Given the description of an element on the screen output the (x, y) to click on. 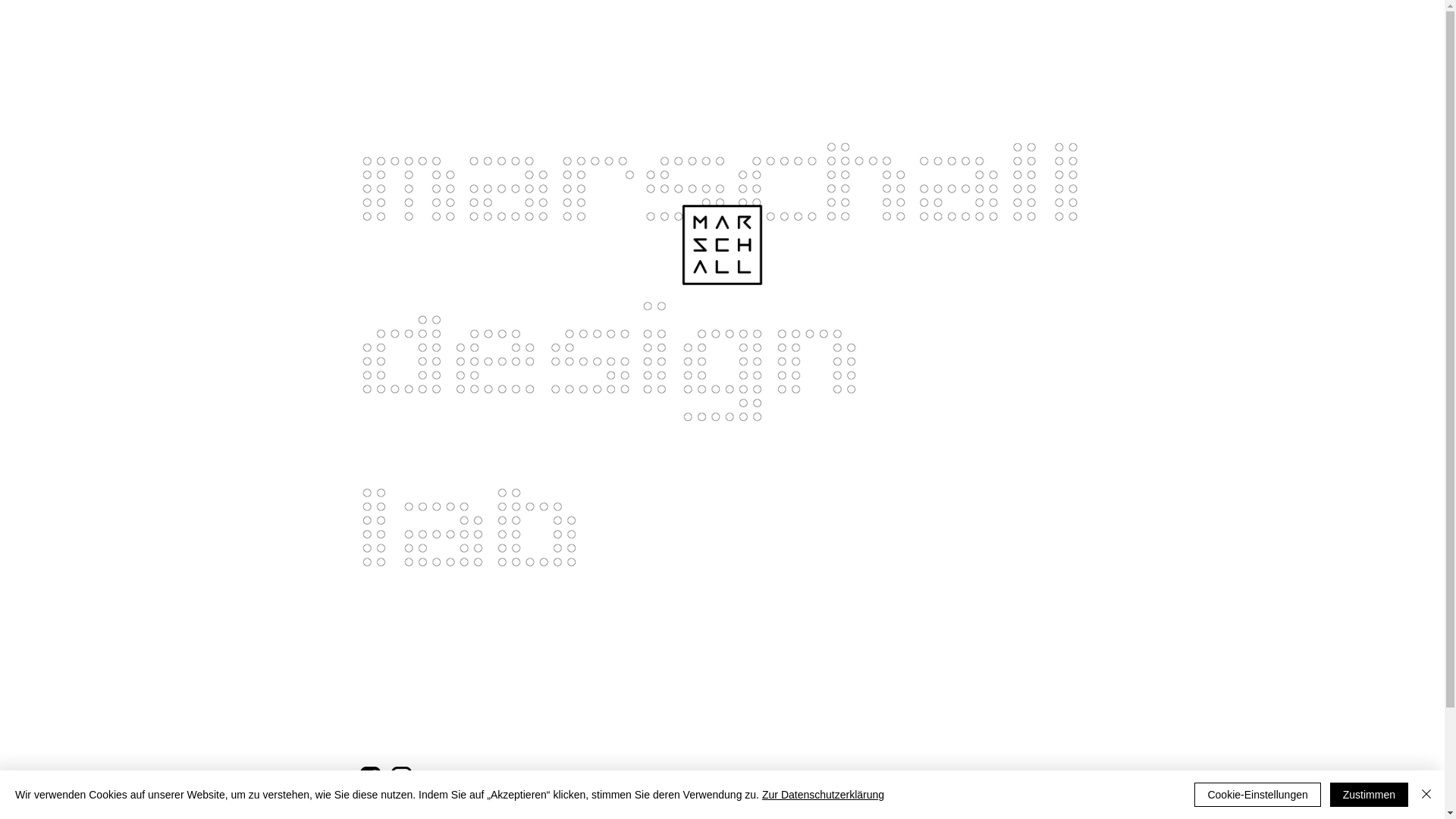
Embedded Content Element type: hover (831, 737)
AGB Element type: text (803, 806)
Impressum Element type: text (738, 806)
Zustimmen Element type: text (1369, 794)
Cookie-Einstellungen Element type: text (1257, 794)
